Given the description of an element on the screen output the (x, y) to click on. 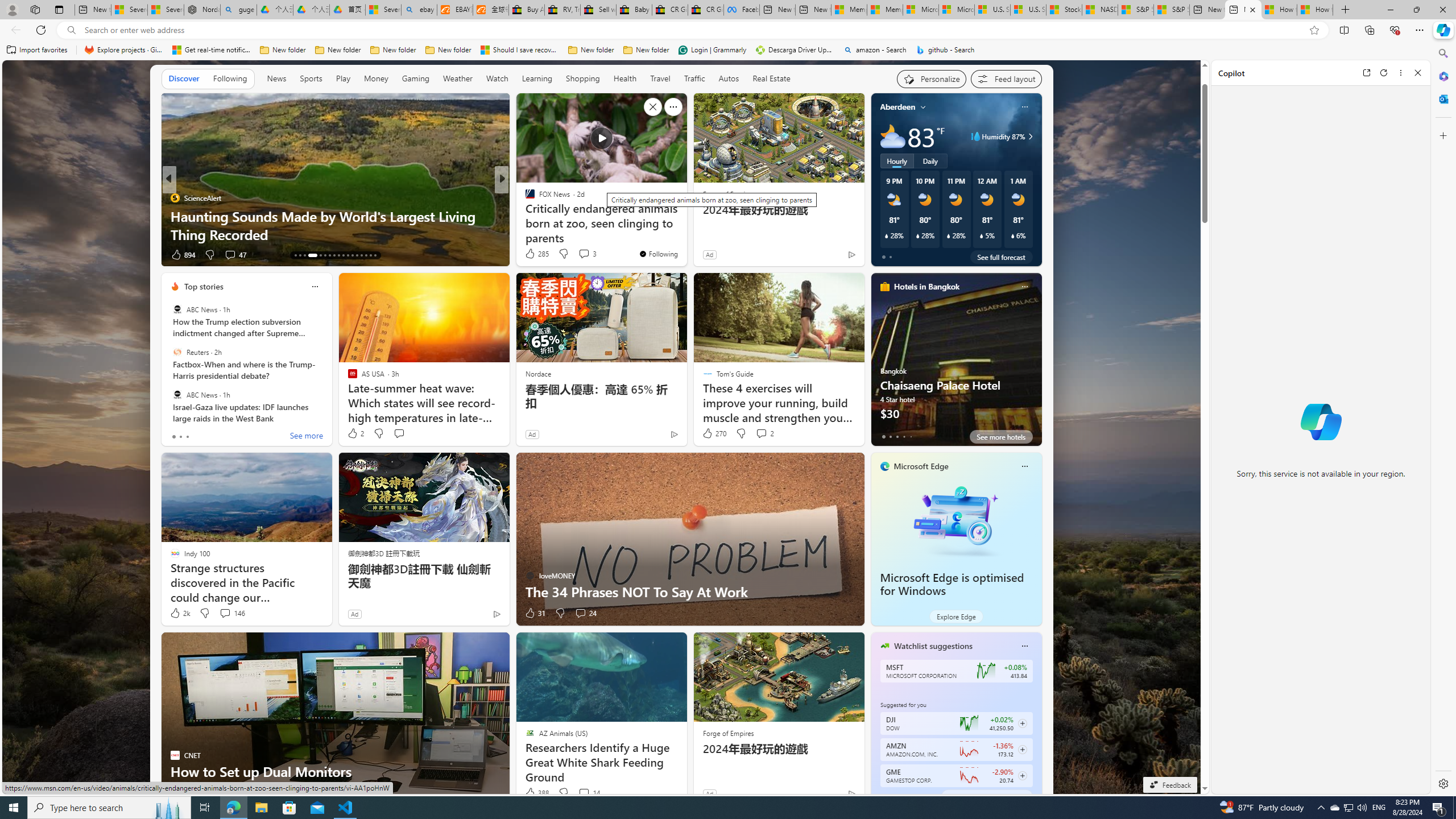
View comments 3 Comment (583, 253)
Class: weather-arrow-glyph (1029, 136)
View comments 146 Comment (224, 613)
22 Like (530, 254)
Mostly cloudy (892, 136)
AutomationID: tab-23 (347, 255)
guge yunpan - Search (238, 9)
Explore Edge (955, 616)
View comments 1 Comment (572, 254)
Watch (497, 79)
View comments 24 Comment (585, 612)
59 Like (530, 254)
View comments 123 Comment (583, 254)
